Given the description of an element on the screen output the (x, y) to click on. 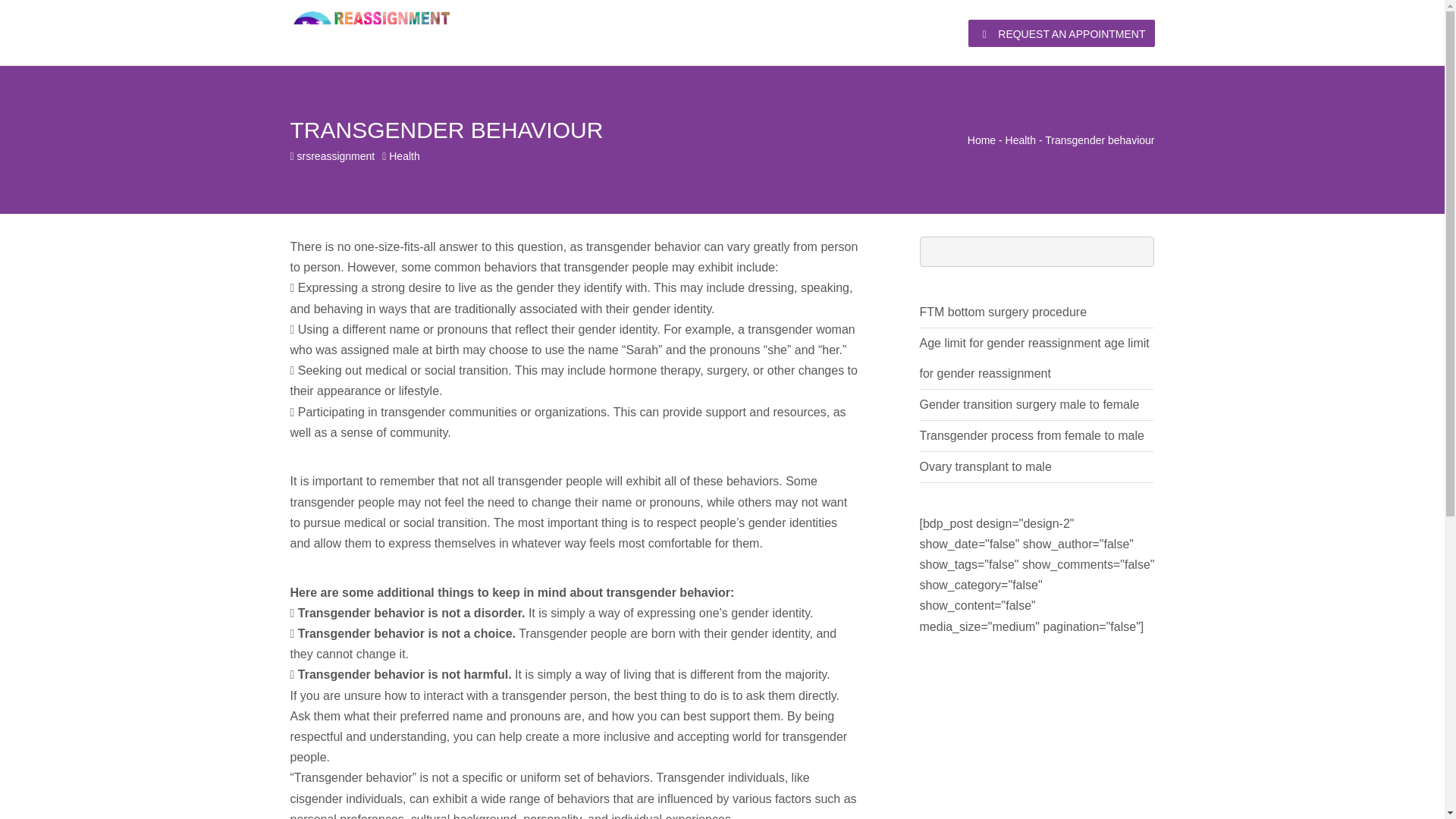
Gender transition surgery male to female (1028, 404)
REQUEST AN APPOINTMENT (1061, 32)
Home (981, 140)
Submit (486, 523)
FTM bottom surgery procedure (1002, 311)
Health (403, 155)
srsreassignment (336, 155)
Transgender process from female to male (1030, 435)
Ovary transplant to male (984, 466)
